Given the description of an element on the screen output the (x, y) to click on. 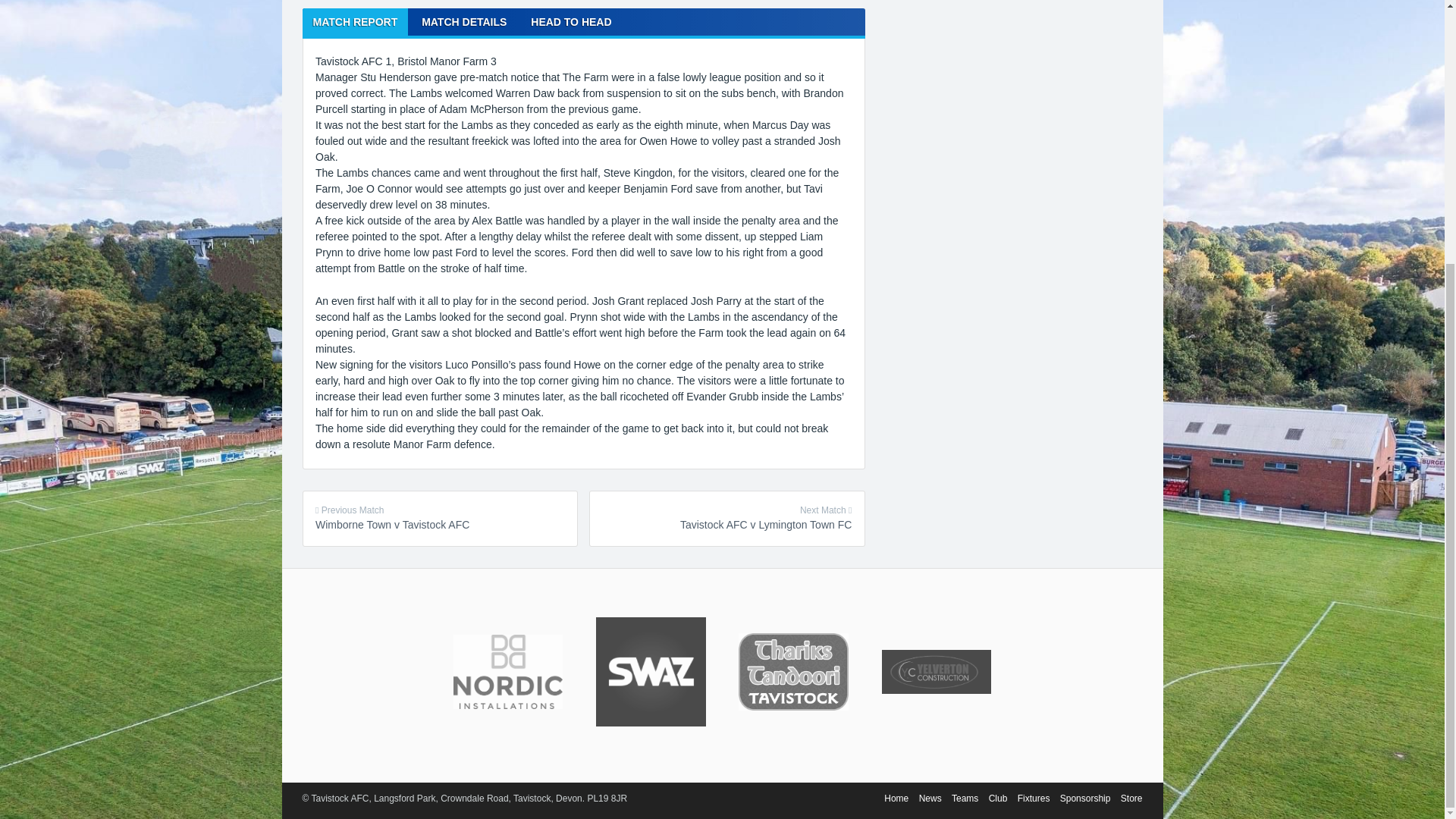
MATCH REPORT (726, 518)
News (354, 22)
HEAD TO HEAD (930, 798)
MATCH DETAILS (570, 22)
Home (439, 518)
